Given the description of an element on the screen output the (x, y) to click on. 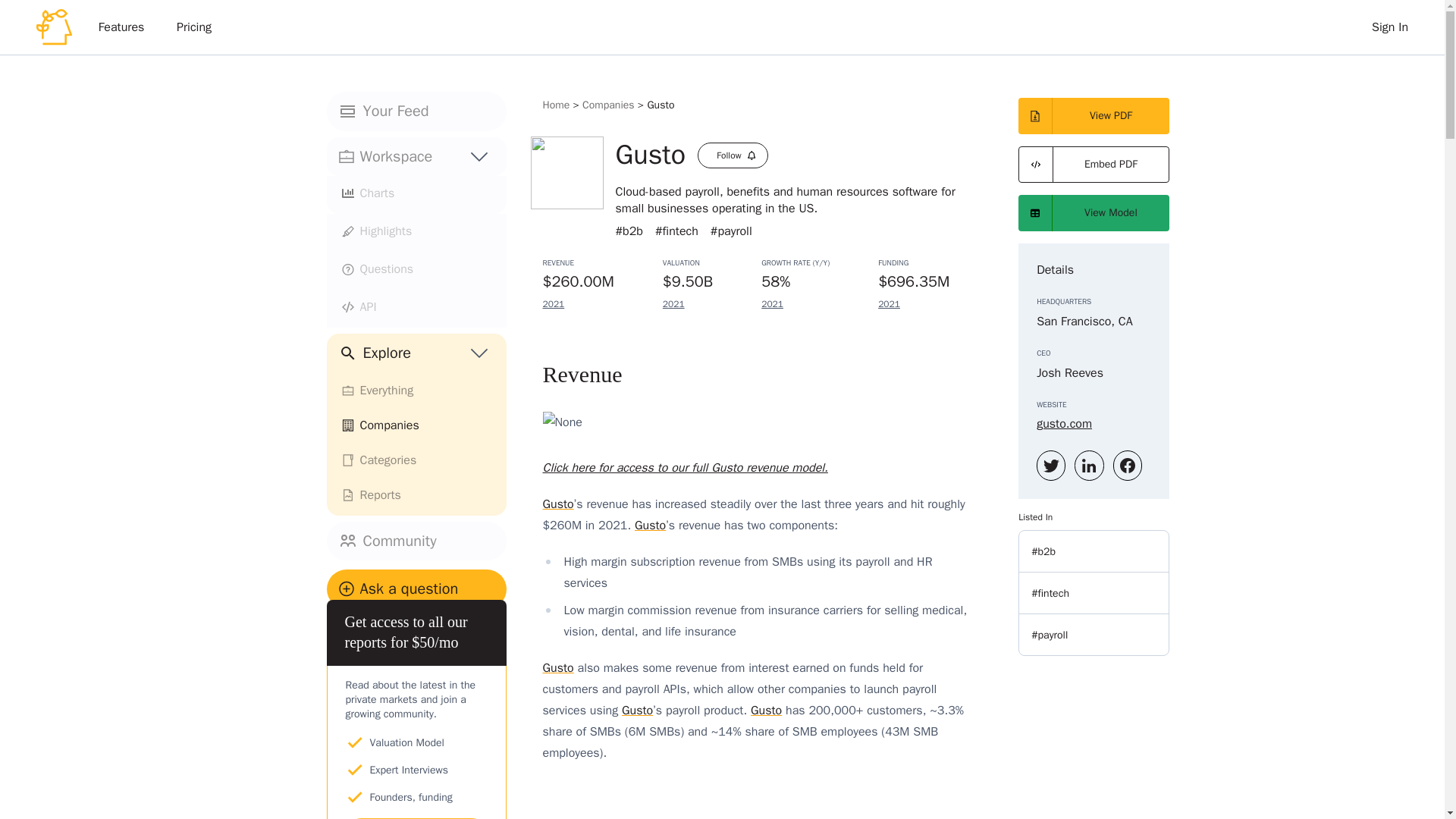
Features (121, 27)
Pricing (194, 27)
Companies (415, 425)
Questions (415, 270)
Embed PDF (1093, 164)
Sign In (1389, 27)
Workspace (395, 156)
View Model (1093, 212)
Explore (415, 353)
